Given the description of an element on the screen output the (x, y) to click on. 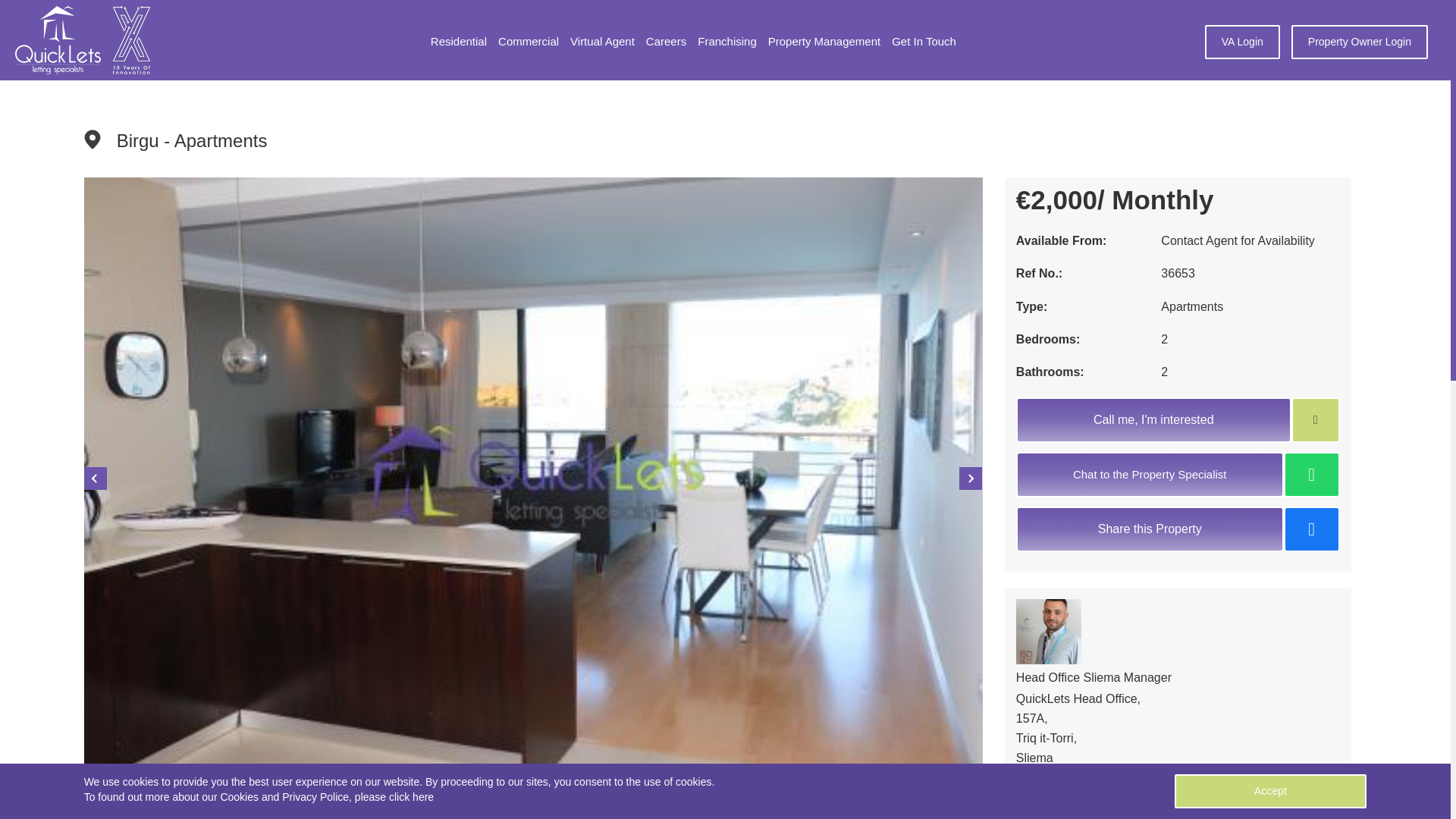
Virtual Agent (602, 42)
Commercial (528, 42)
VA Login (1242, 41)
Franchising (727, 42)
Share this Property (1177, 533)
Previous (95, 477)
Careers (665, 42)
Property Management (824, 42)
Call Head Office Sliema Manager (1135, 783)
Add to Enquiry (1315, 420)
